Given the description of an element on the screen output the (x, y) to click on. 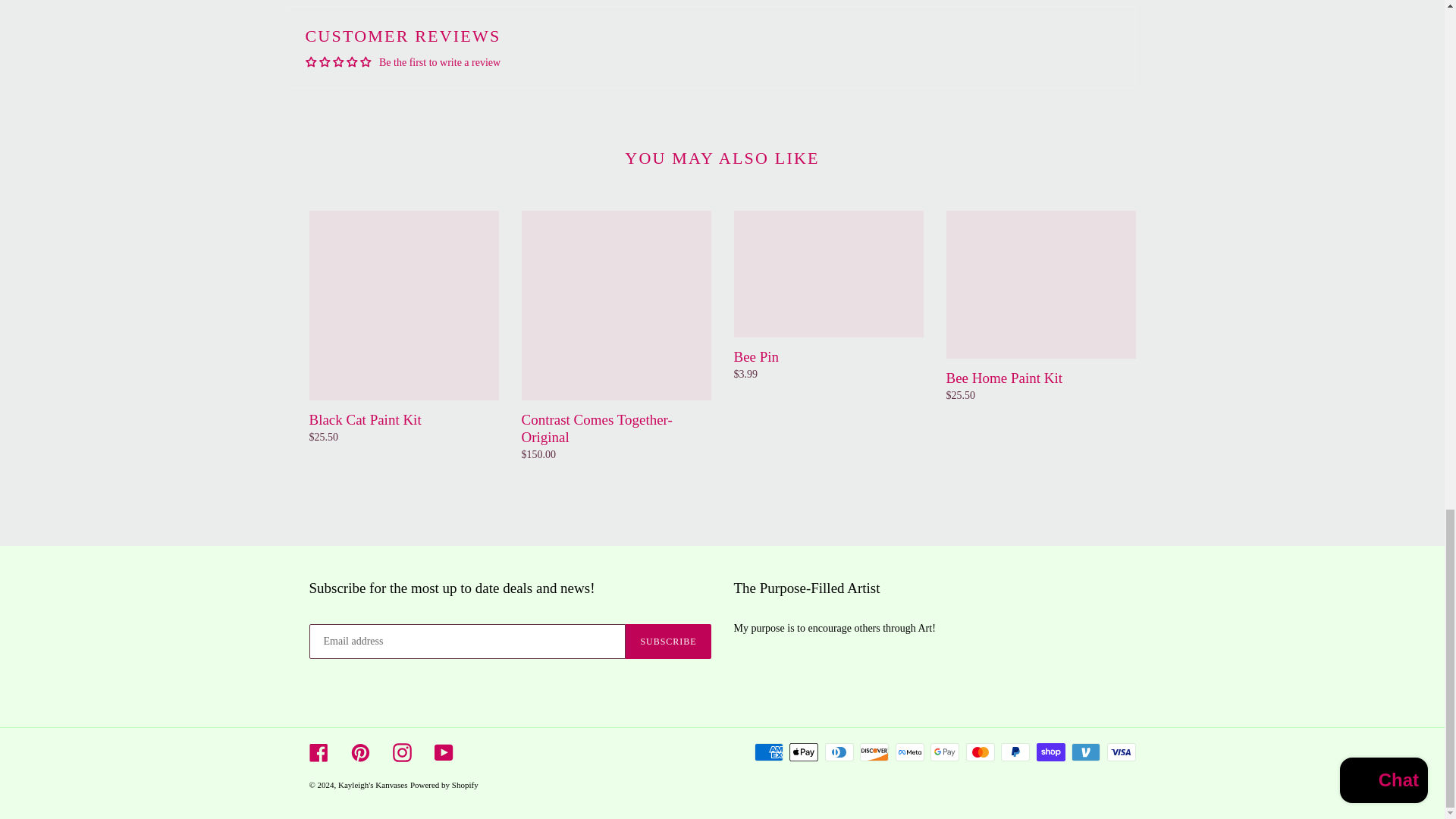
Bee Pin (828, 296)
